Given the description of an element on the screen output the (x, y) to click on. 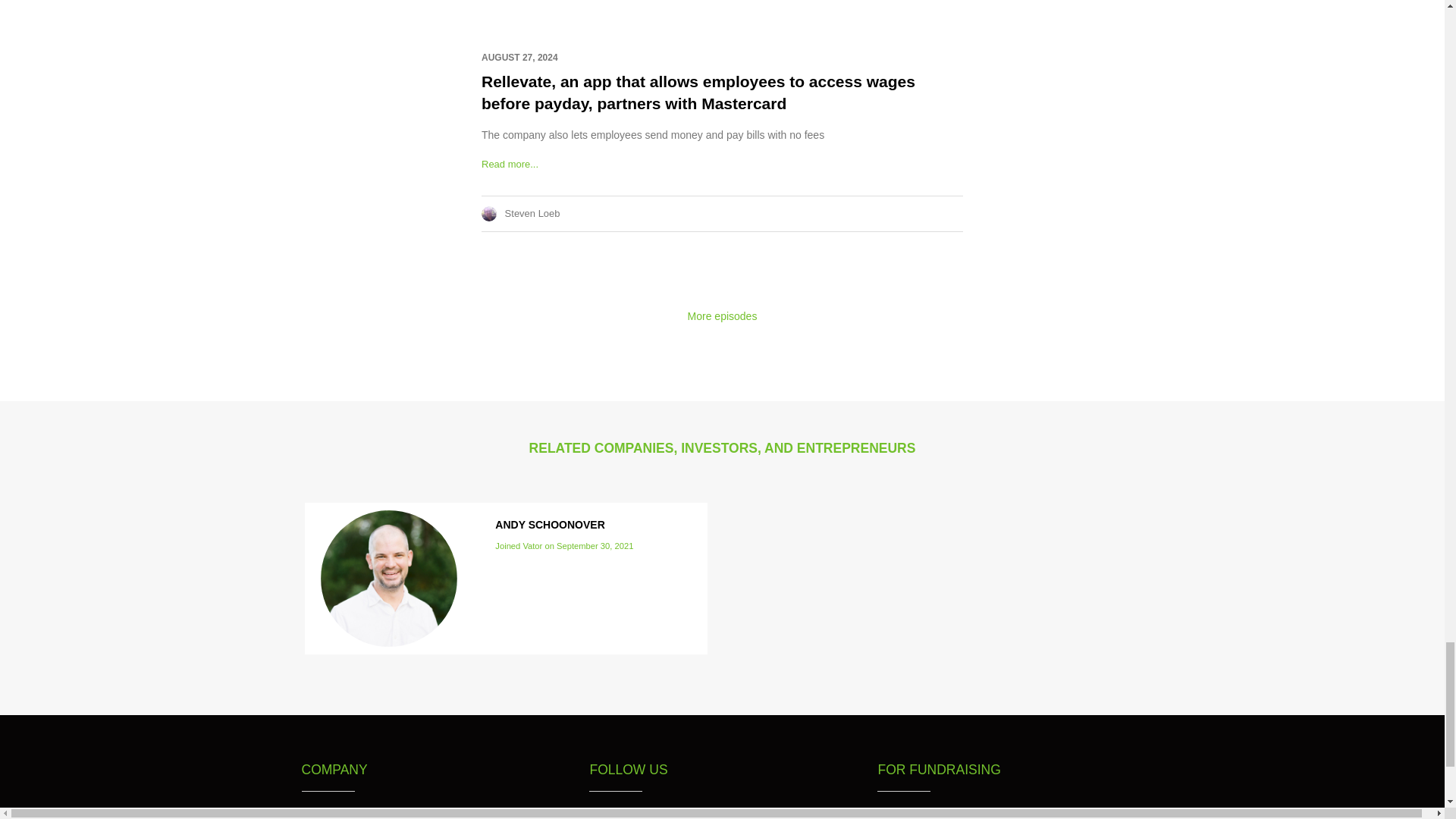
More episodes (722, 316)
Events (327, 815)
Read more... (509, 163)
ANDY SCHOONOVER (549, 524)
